Given the description of an element on the screen output the (x, y) to click on. 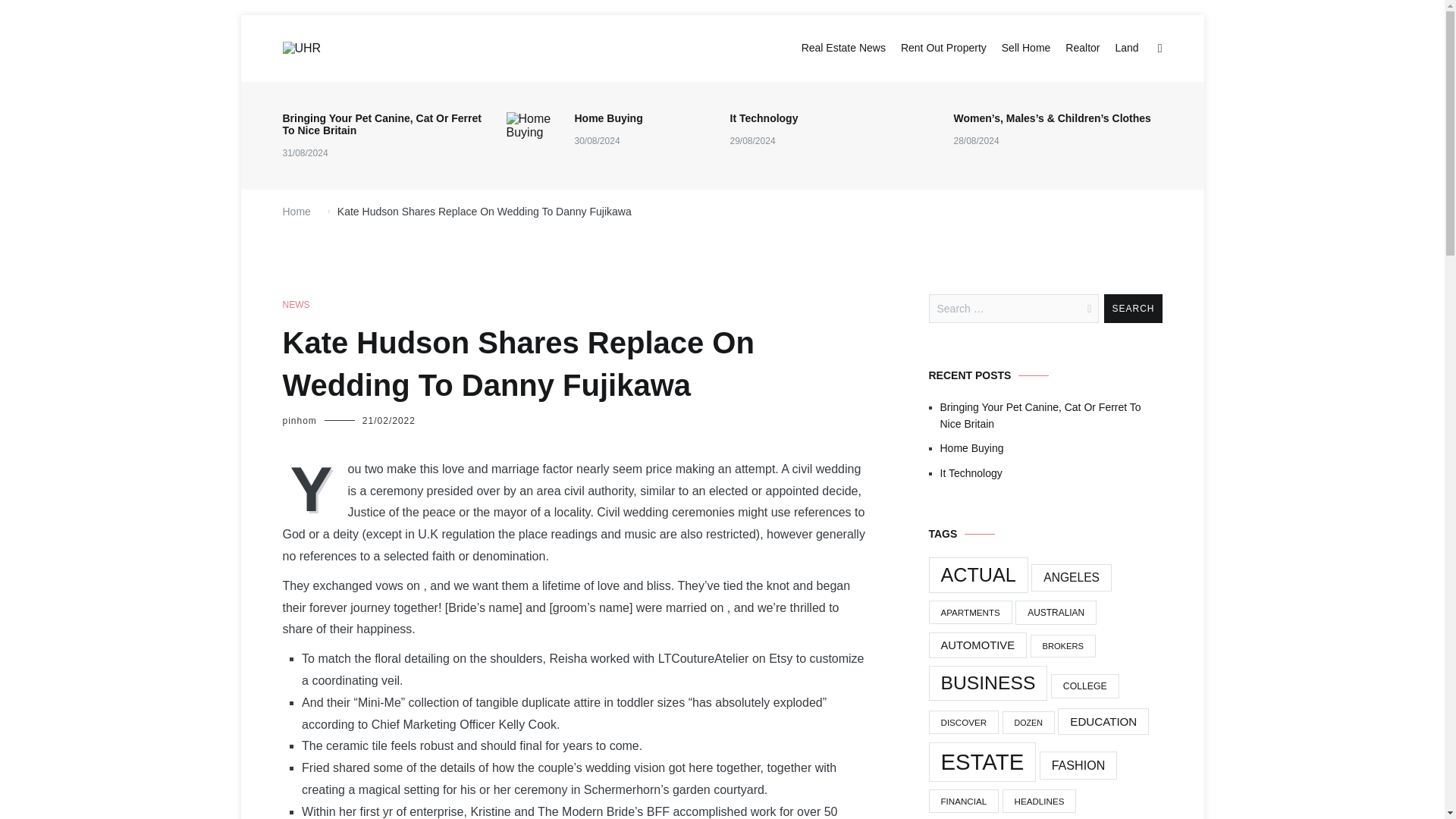
Home Buying (609, 118)
UHR (299, 68)
APARTMENTS (969, 612)
It Technology (763, 118)
Home Buying (1050, 447)
It Technology (1050, 473)
Realtor (1082, 48)
Sell Home (1026, 48)
Rent Out Property (944, 48)
pinhom (298, 420)
